Given the description of an element on the screen output the (x, y) to click on. 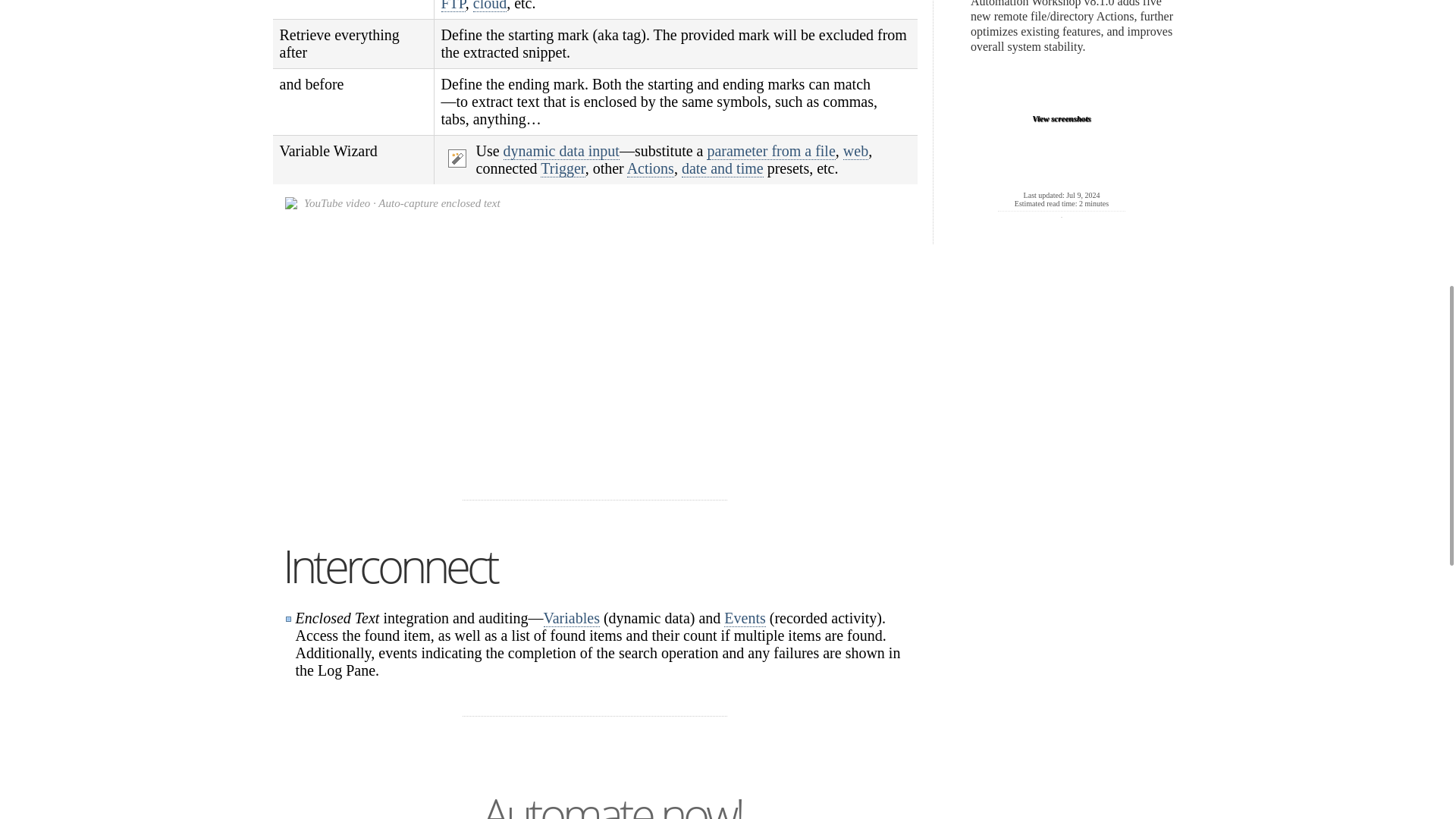
Variables (570, 618)
dynamic data input (561, 150)
FTP (453, 6)
Actions (650, 168)
web (855, 150)
date and time (721, 168)
cloud (489, 6)
Trigger (562, 168)
parameter from a file (770, 150)
